Given the description of an element on the screen output the (x, y) to click on. 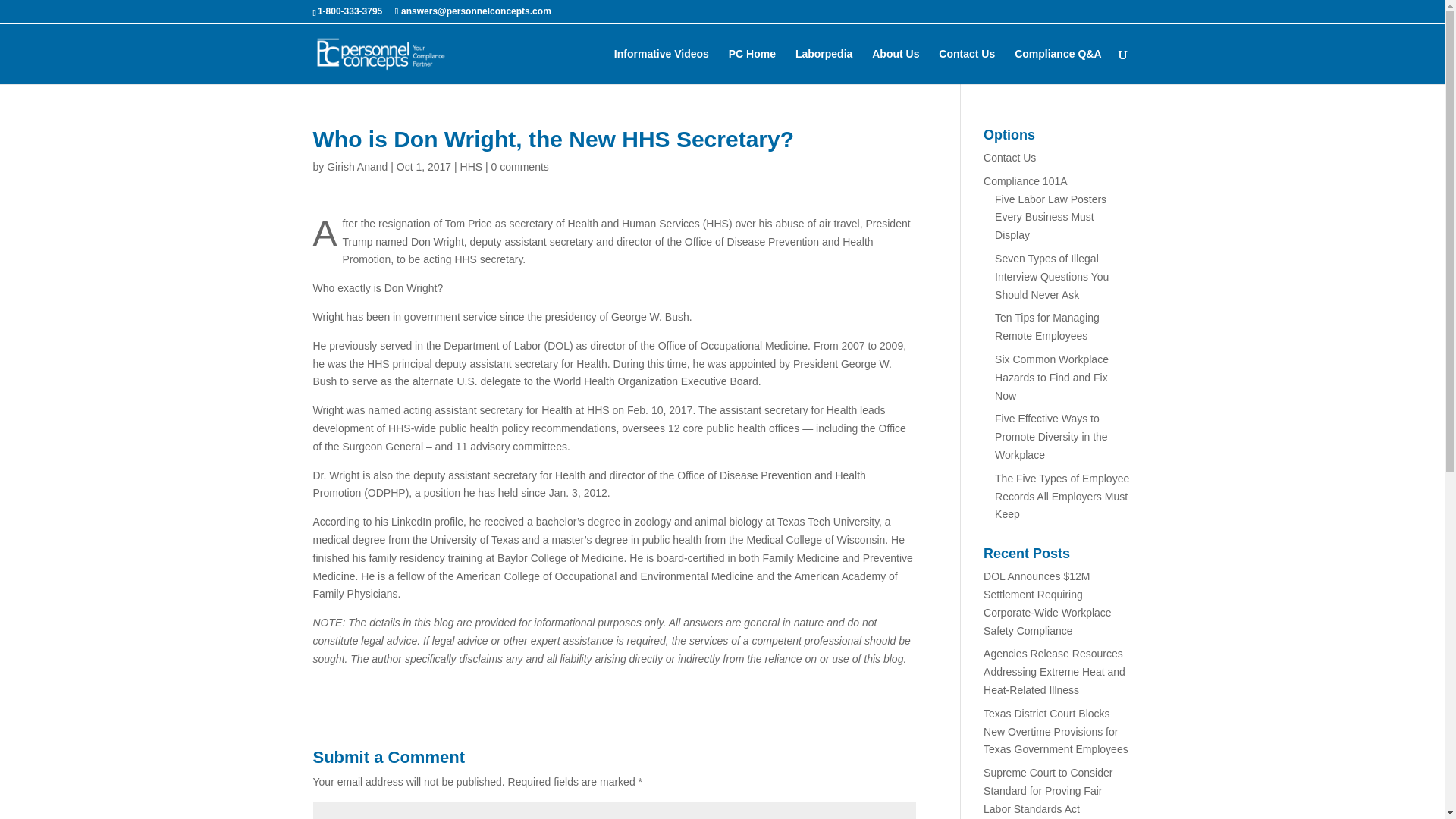
Six Common Workplace Hazards to Find and Fix Now (1051, 377)
PC Home (752, 66)
Laborpedia (822, 66)
Contact Us (966, 66)
The Five Types of Employee Records All Employers Must Keep (1061, 496)
Five Labor Law Posters Every Business Must Display (1050, 217)
Compliance 101A (1025, 181)
Girish Anand (356, 166)
Five Effective Ways to Promote Diversity in the Workplace (1051, 436)
About Us (895, 66)
Contact Us (1009, 157)
Ten Tips for Managing Remote Employees (1046, 327)
